Given the description of an element on the screen output the (x, y) to click on. 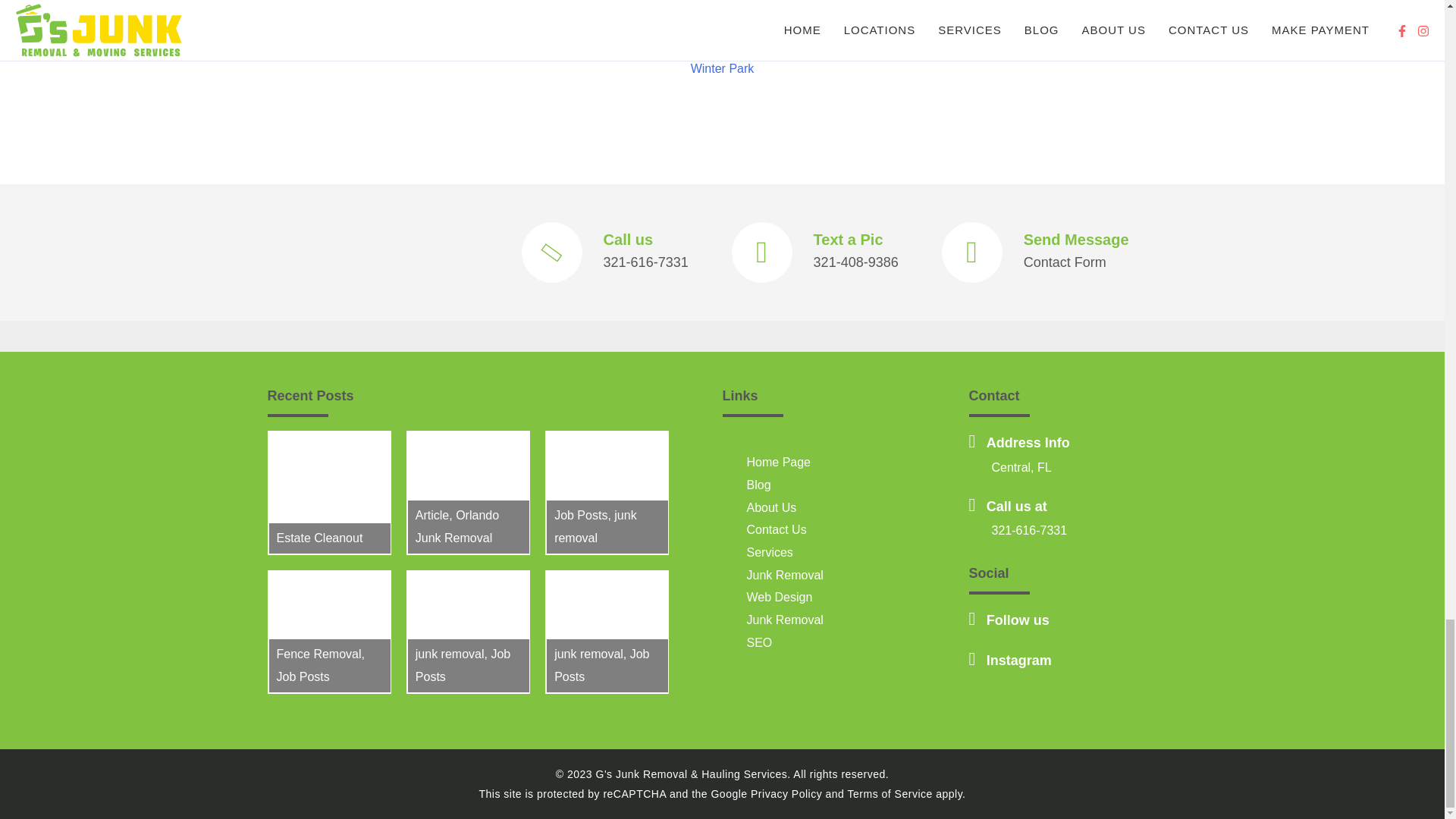
Winter Park (722, 68)
Apopka (318, 45)
Sanford (839, 45)
Text a Pic (848, 239)
Orlando (790, 45)
